Given the description of an element on the screen output the (x, y) to click on. 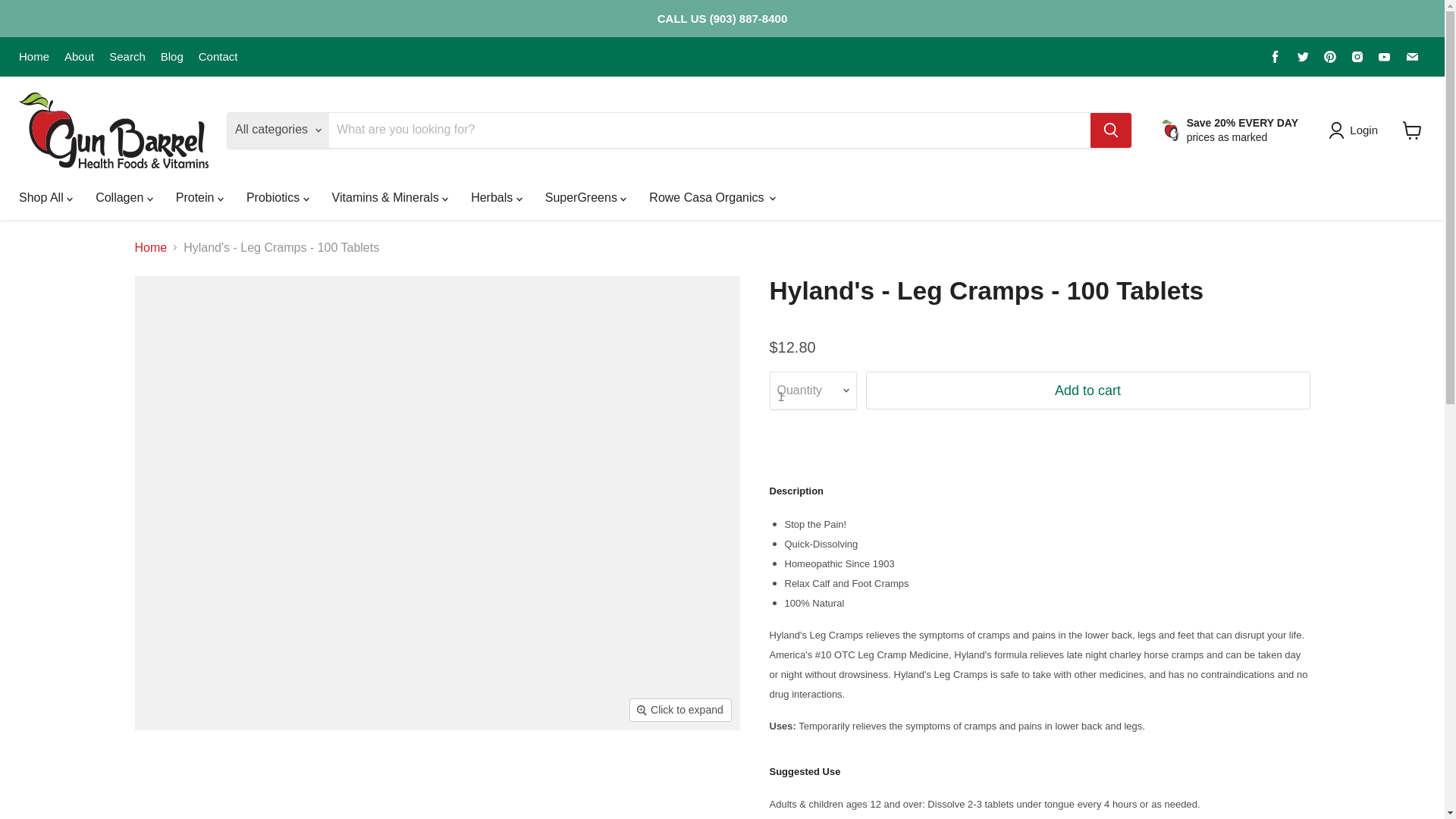
Blog (171, 56)
Find us on Pinterest (1329, 55)
Find us on Twitter (1302, 55)
Pinterest (1329, 55)
Twitter (1302, 55)
Instagram (1357, 55)
Search (127, 56)
About (79, 56)
View cart (1411, 130)
Find us on Facebook (1275, 55)
